Given the description of an element on the screen output the (x, y) to click on. 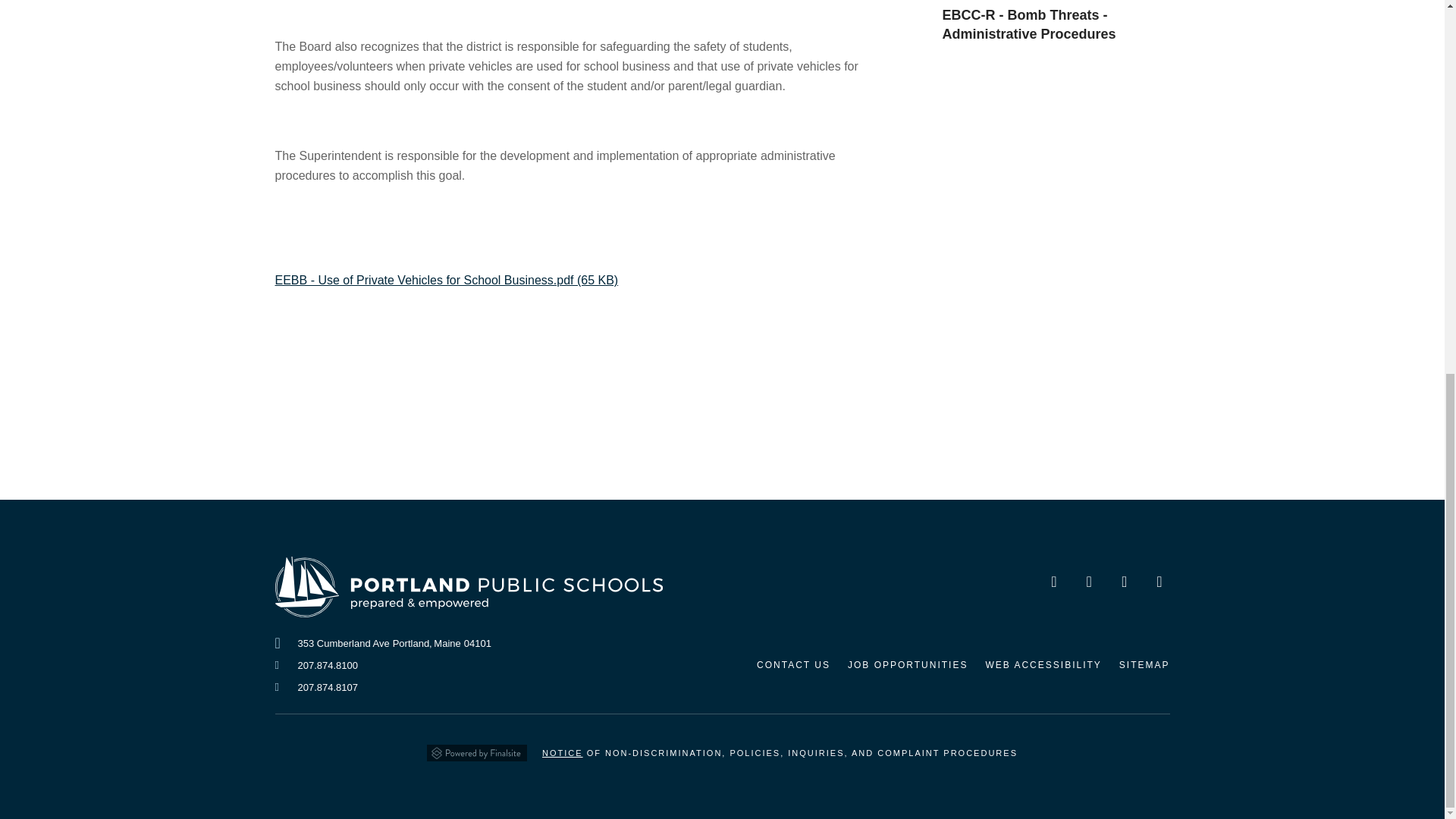
Powered by Finalsite opens in a new window (476, 748)
